Given the description of an element on the screen output the (x, y) to click on. 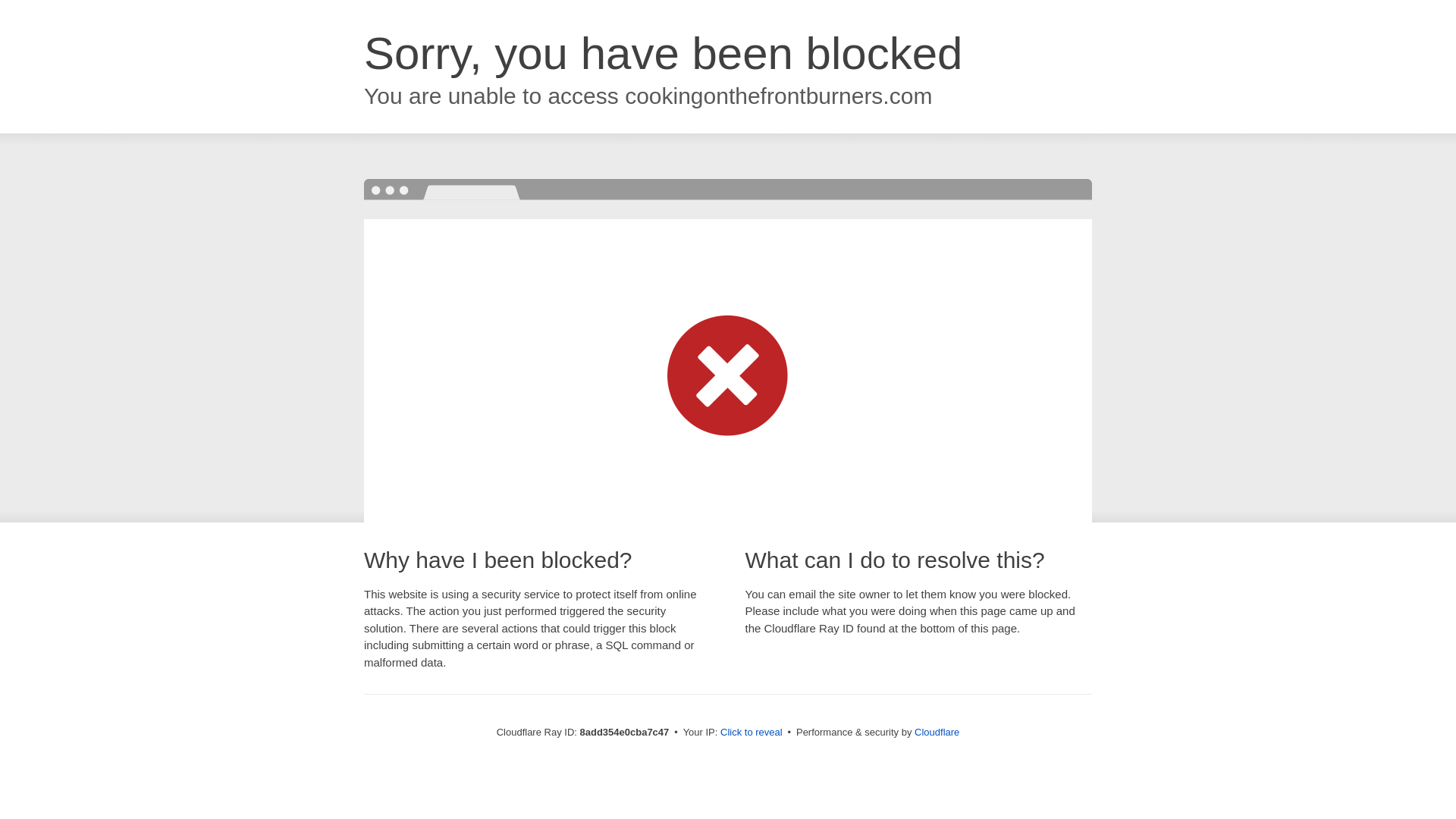
Click to reveal (751, 732)
Cloudflare (936, 731)
